Given the description of an element on the screen output the (x, y) to click on. 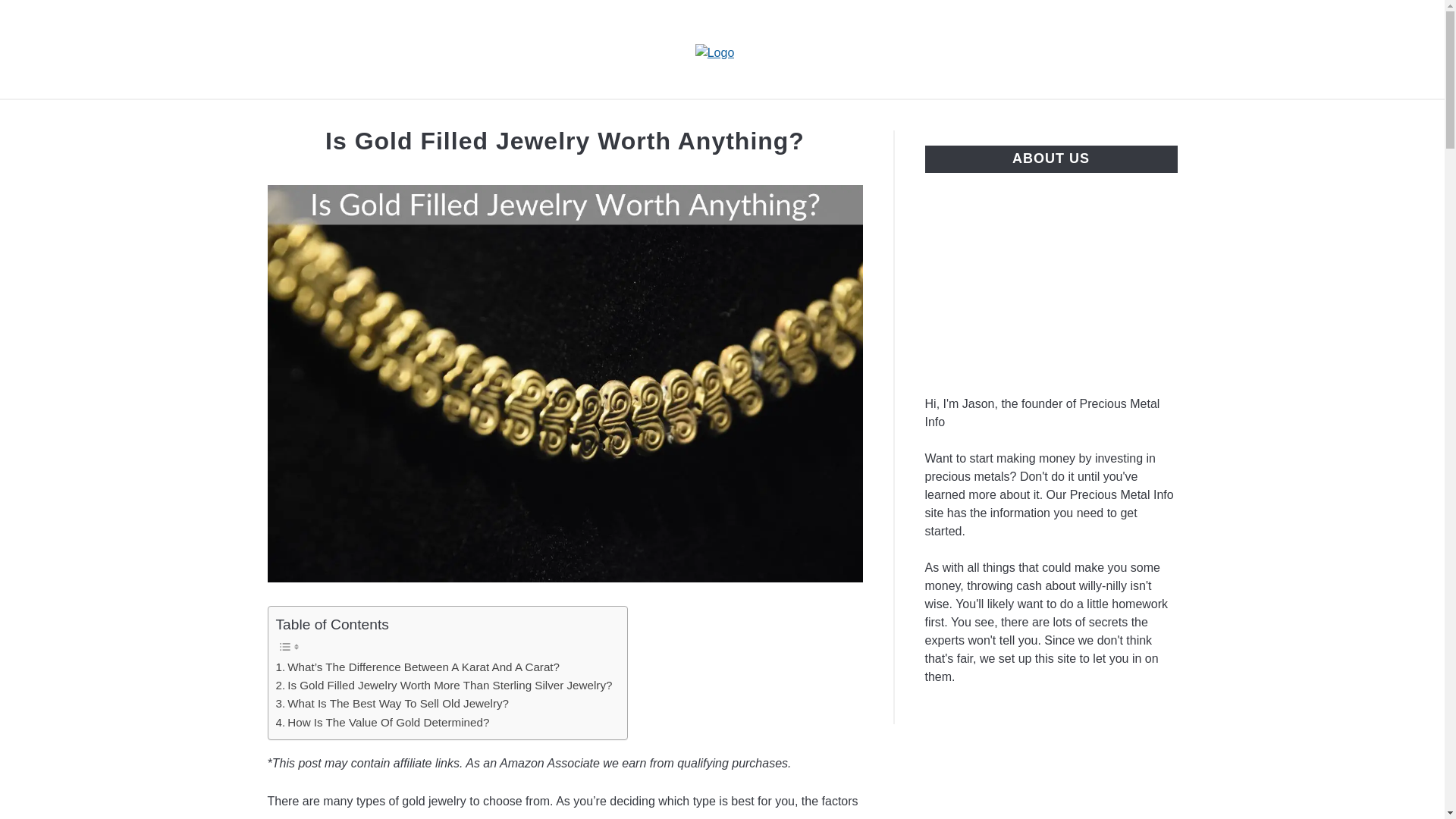
MINING (804, 117)
WATCHES (1057, 117)
PRECIOUS METALS (926, 117)
JEWELRY (550, 117)
METALLURGY NEWS (681, 117)
How Is The Value Of Gold Determined? (382, 721)
Search (1203, 49)
What Is The Best Way To Sell Old Jewelry? (392, 703)
